Given the description of an element on the screen output the (x, y) to click on. 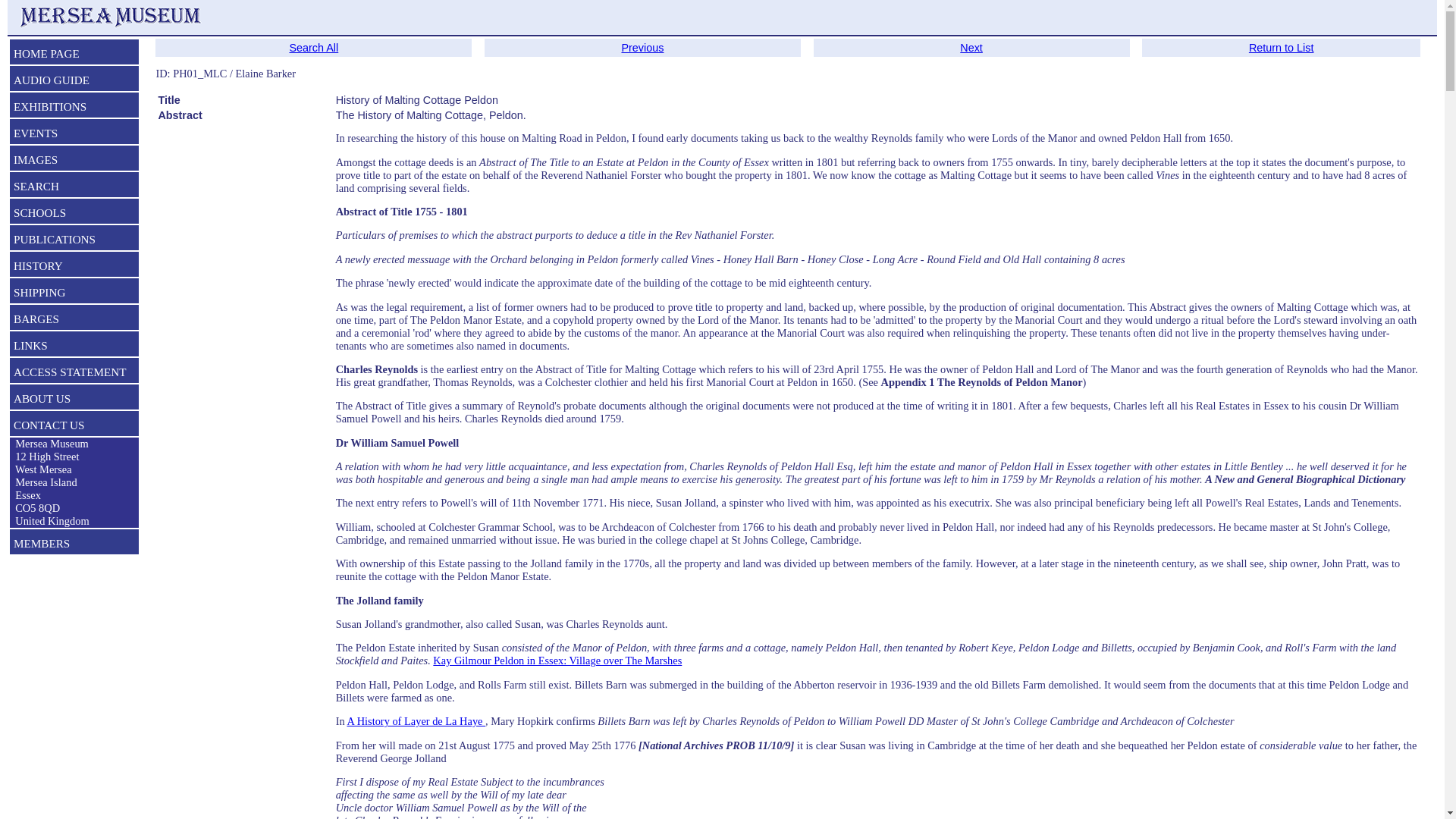
HISTORY (74, 267)
SEARCH (74, 187)
HOME PAGE (74, 55)
EVENTS (74, 134)
SCHOOLS (74, 214)
IMAGES (74, 160)
AUDIO GUIDE (74, 81)
PUBLICATIONS (74, 241)
SHIPPING (74, 293)
EXHIBITIONS (74, 108)
